Given the description of an element on the screen output the (x, y) to click on. 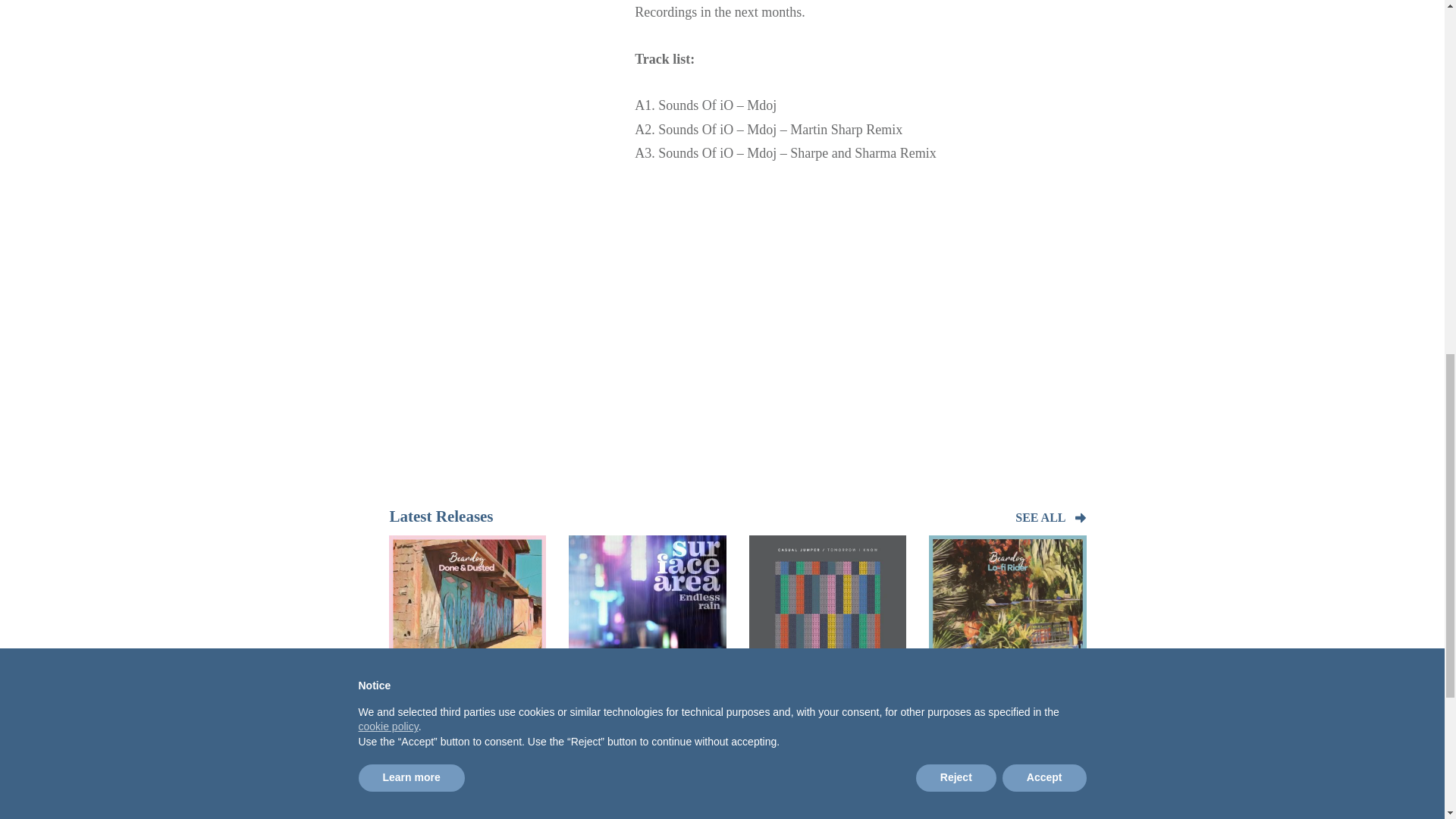
Sounds of iO - Mdoj (859, 303)
